Given the description of an element on the screen output the (x, y) to click on. 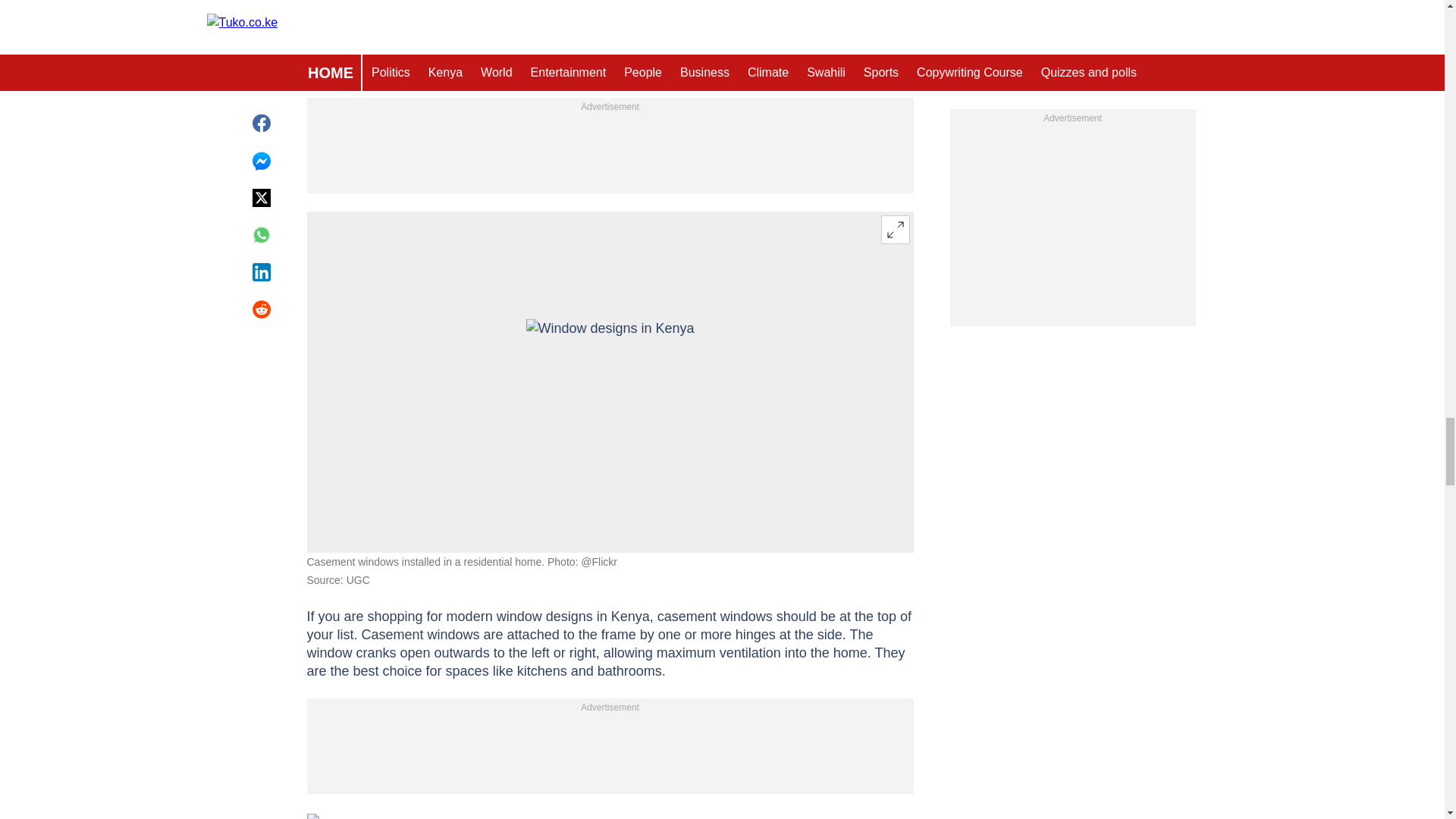
Window designs in Kenya (609, 381)
Expand image (895, 229)
